Given the description of an element on the screen output the (x, y) to click on. 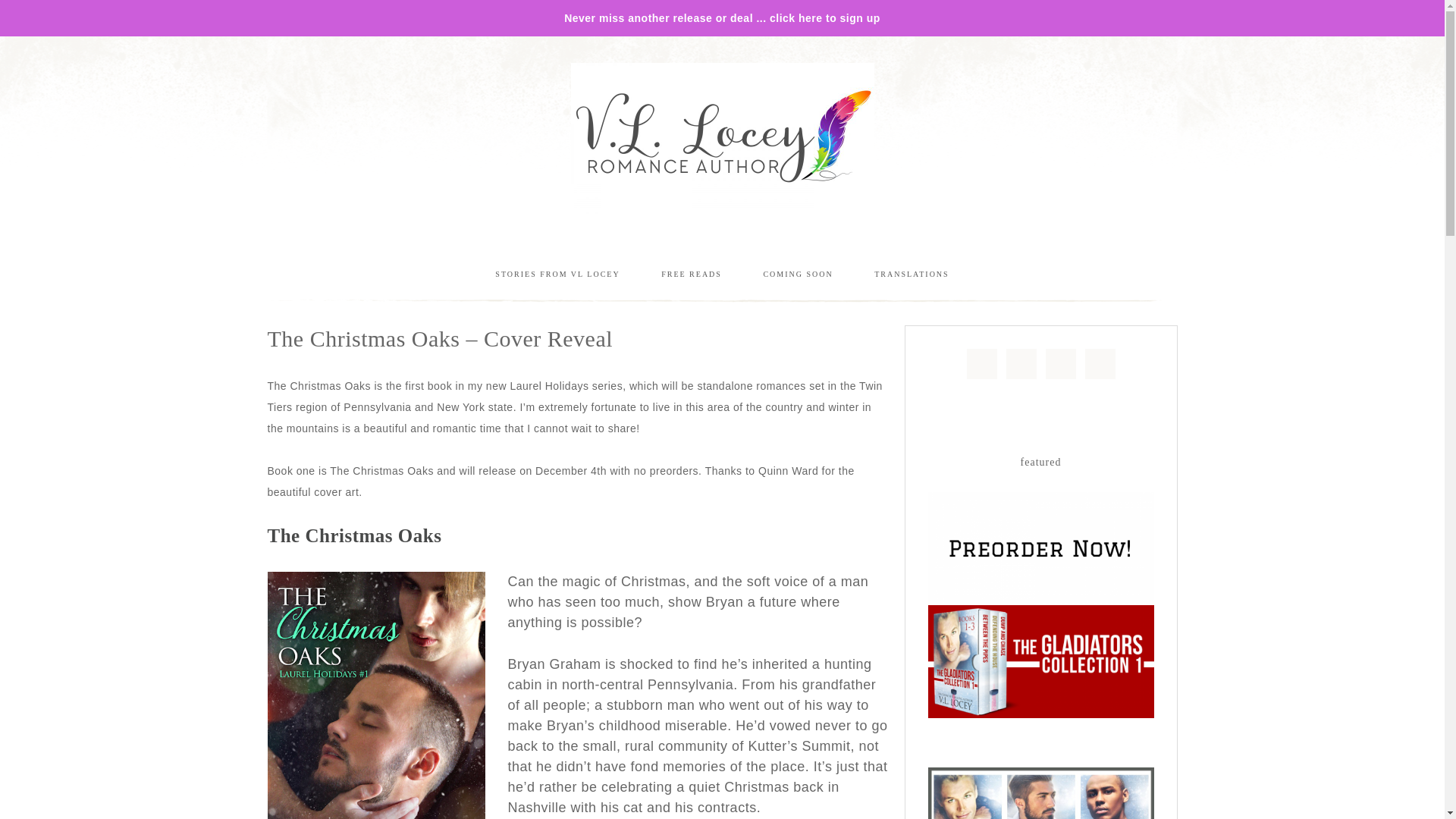
STORIES FROM VL LOCEY (557, 273)
TRANSLATIONS (911, 273)
FREE READS (691, 273)
Never miss another release or deal ... click here to sign up (722, 18)
COMING SOON (797, 273)
